Given the description of an element on the screen output the (x, y) to click on. 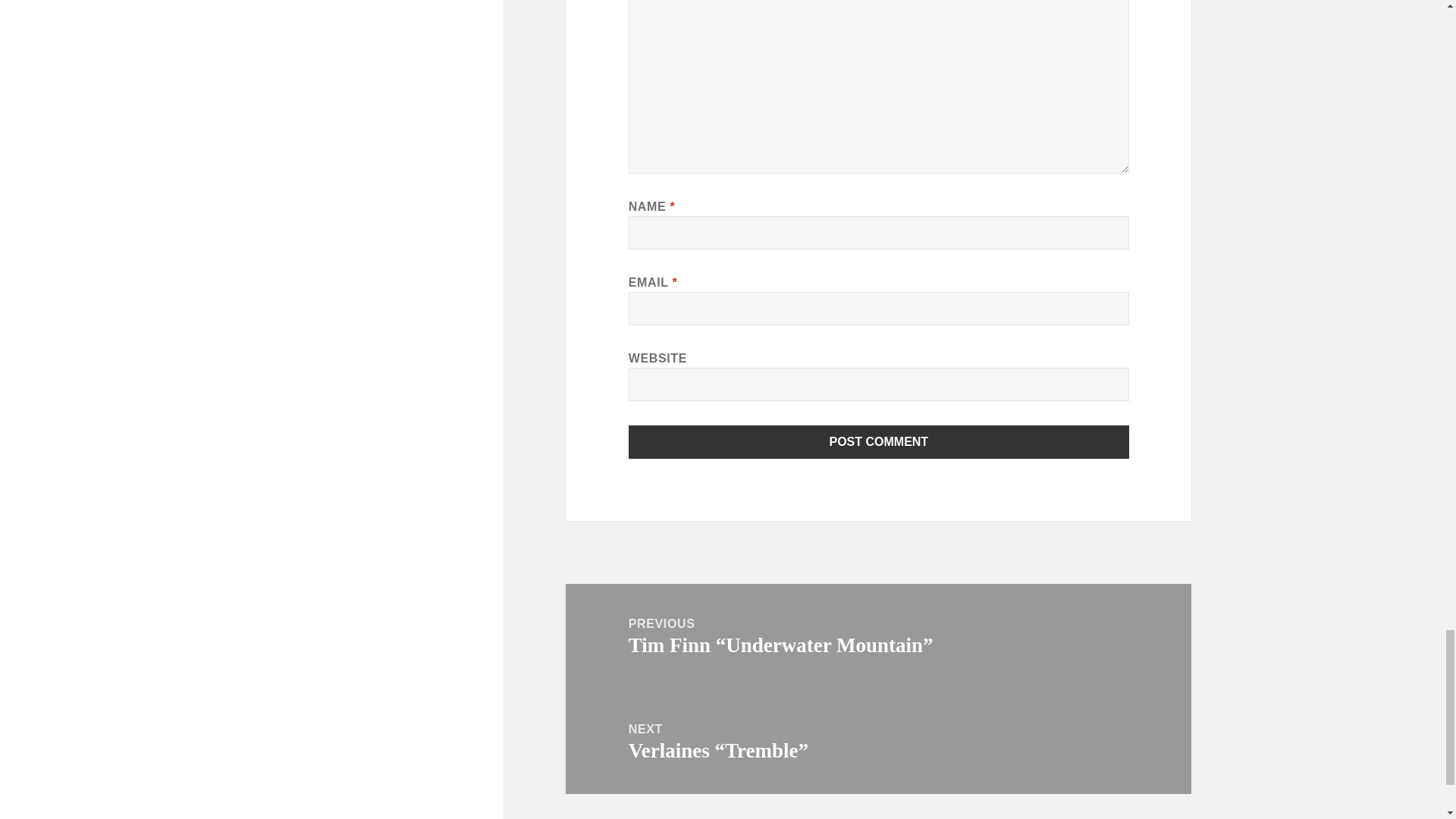
Post Comment (878, 441)
